Given the description of an element on the screen output the (x, y) to click on. 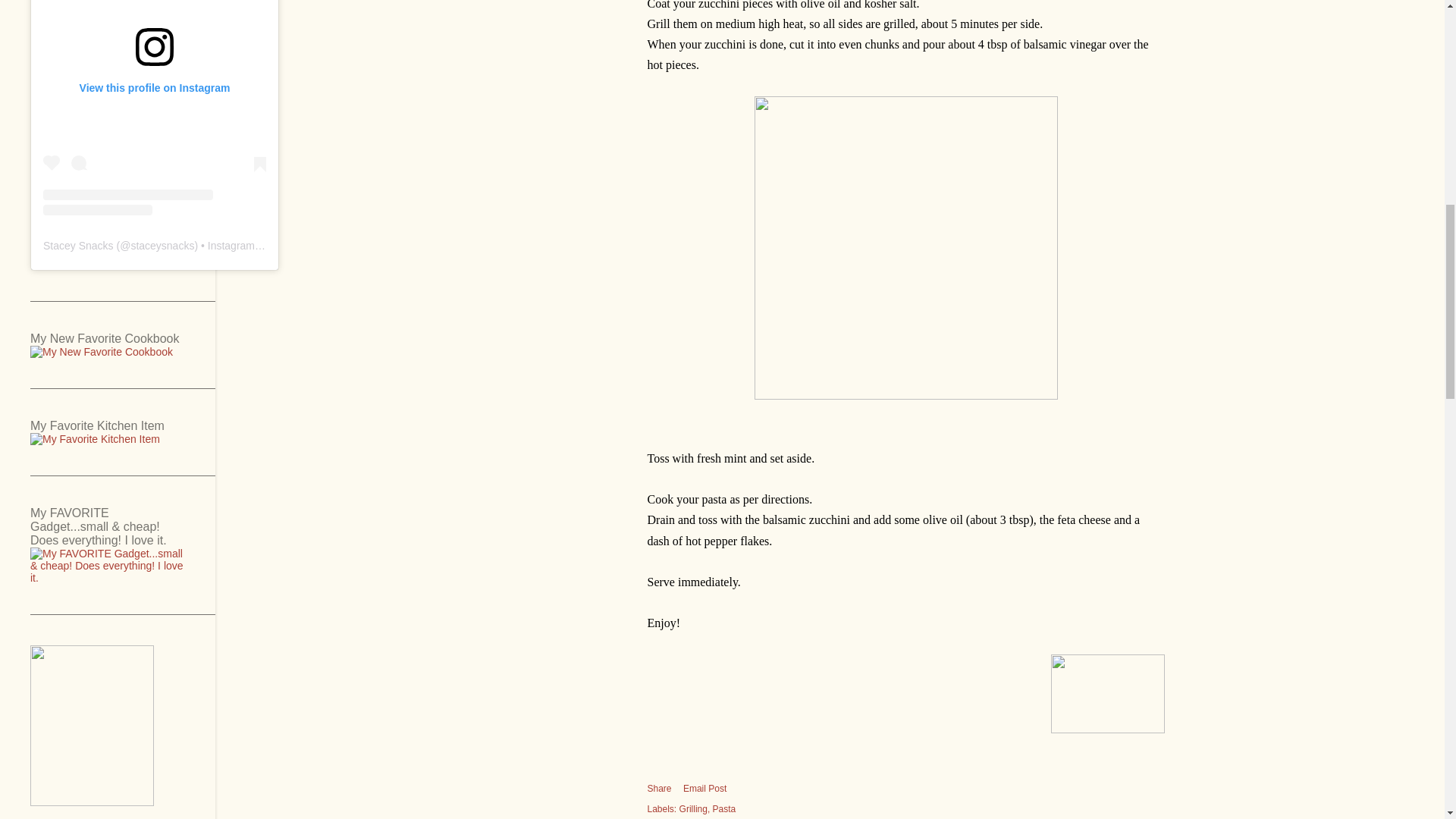
Grilling (694, 808)
Share (659, 787)
Email Post (704, 788)
Pasta (724, 808)
